Given the description of an element on the screen output the (x, y) to click on. 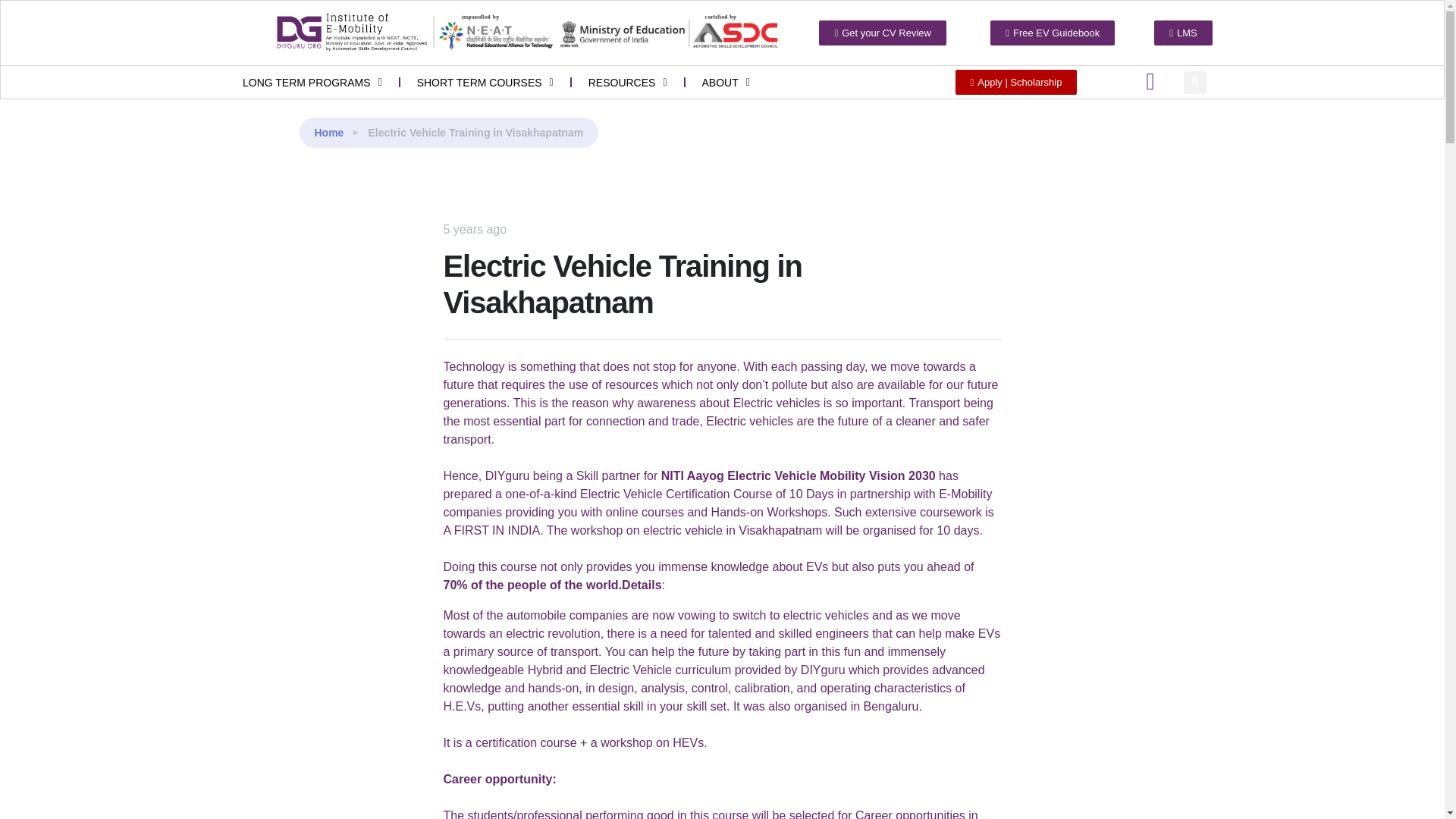
Get your CV Review (882, 32)
Free EV Guidebook (1052, 32)
SHORT TERM COURSES (485, 81)
LONG TERM PROGRAMS (311, 81)
LMS (1182, 32)
